Given the description of an element on the screen output the (x, y) to click on. 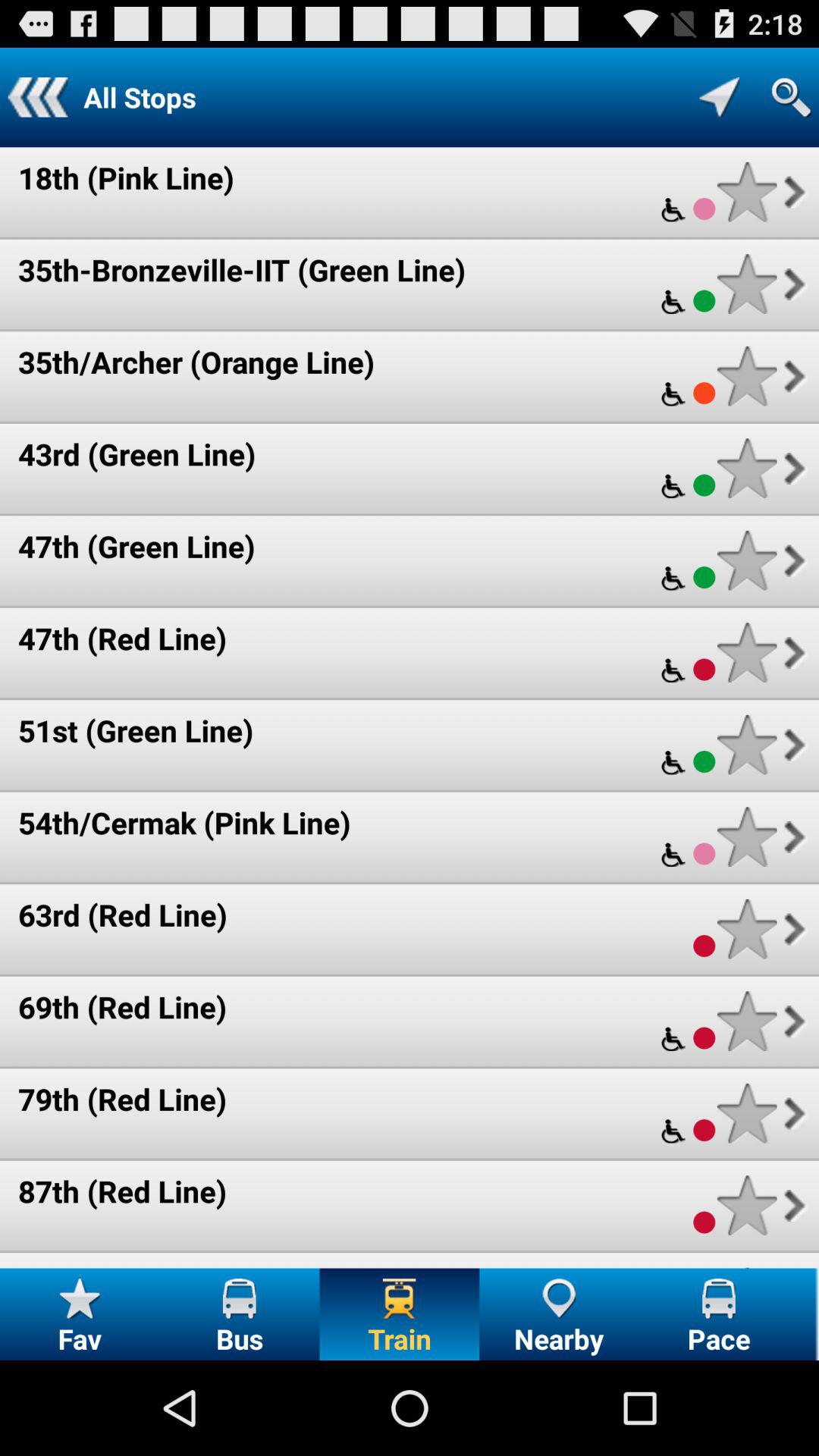
voltar a tela anterior (37, 97)
